Given the description of an element on the screen output the (x, y) to click on. 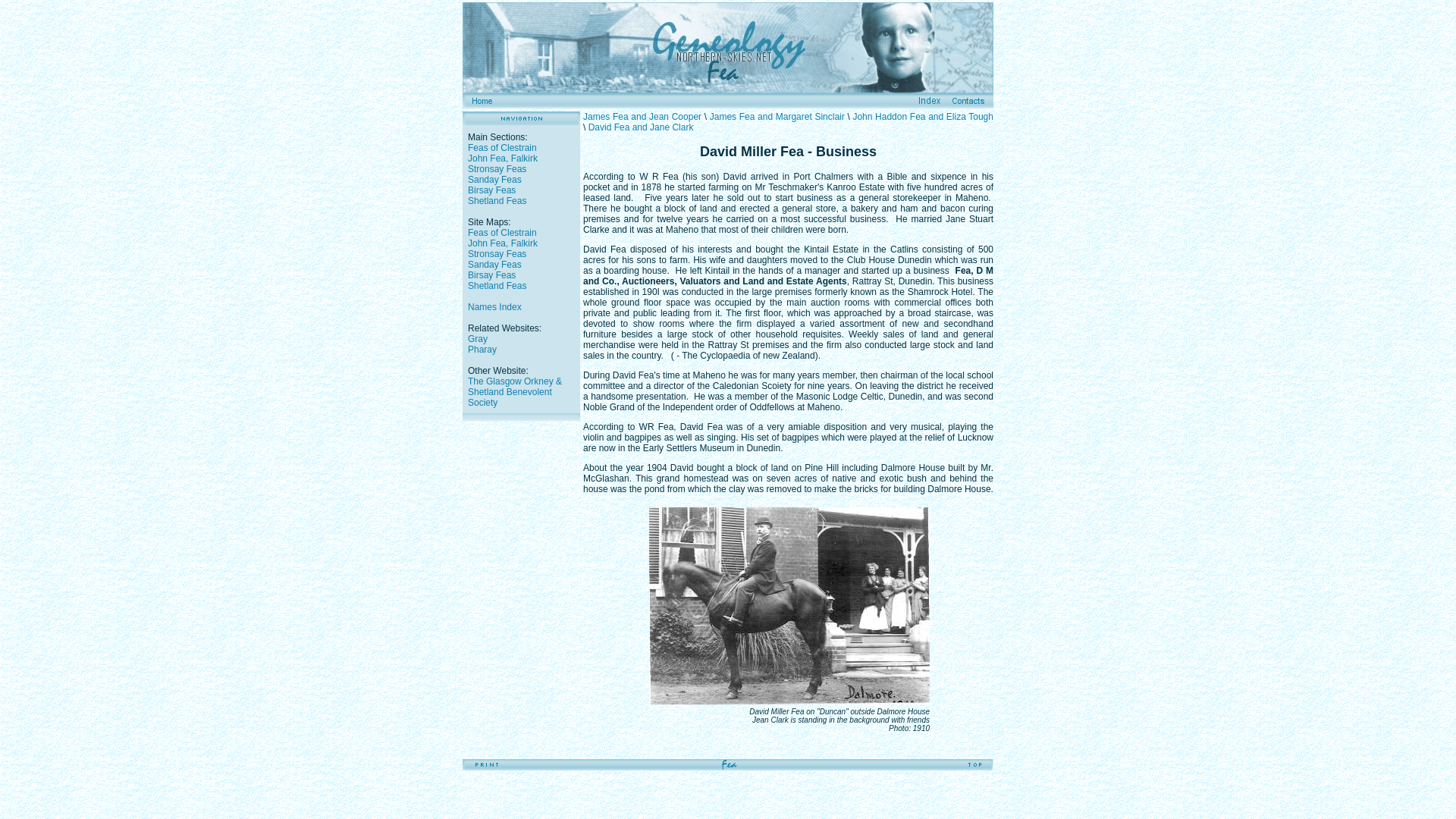
Feas of Clestrain (502, 147)
John Haddon Fea and Eliza Tough (921, 116)
John Fea, Falkirk (502, 158)
Birsay Feas (491, 190)
Birsay Feas (491, 275)
Sanday Feas (494, 264)
Stronsay Feas (496, 168)
James Fea and Margaret Sinclair (777, 116)
Gray (477, 338)
Feas of Clestrain (502, 232)
David Fea and Jane Clark (641, 127)
Names Index (494, 307)
Stronsay Feas (496, 253)
Shetland Feas (496, 285)
Sanday Feas (494, 179)
